Given the description of an element on the screen output the (x, y) to click on. 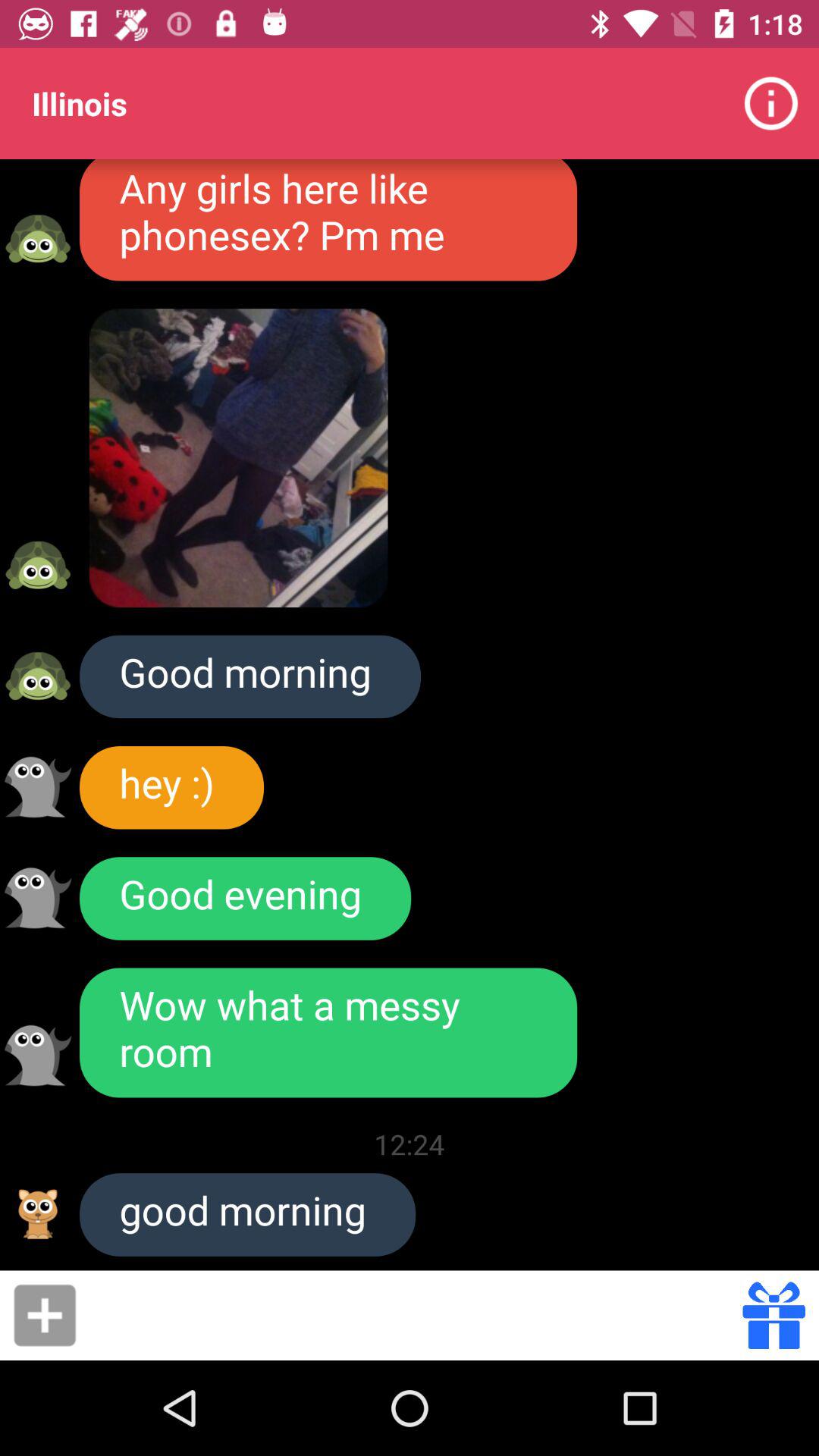
open item below wow what a item (409, 1144)
